Given the description of an element on the screen output the (x, y) to click on. 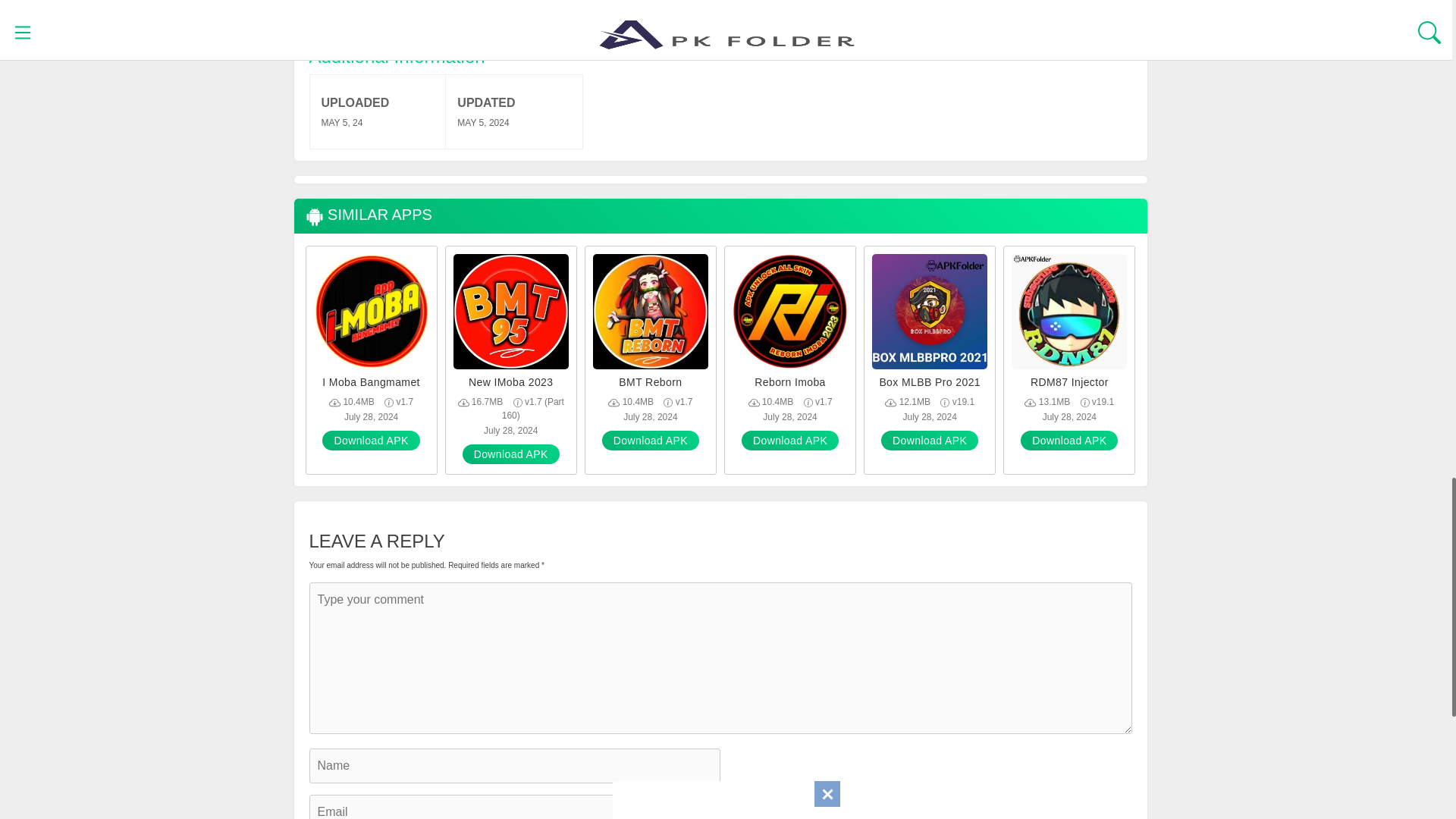
Download APK (650, 440)
I Moba Bangmamet (371, 382)
Download APK (1069, 440)
Download APK (511, 454)
Reborn Imoba (789, 382)
Download APK (370, 440)
Box MLBB Pro 2021 (929, 382)
RDM87 Injector (1068, 382)
BMT Reborn (649, 382)
Download APK (929, 440)
 SIMILAR APPS (367, 216)
New IMoba 2023 (510, 382)
Download APK (789, 440)
